Given the description of an element on the screen output the (x, y) to click on. 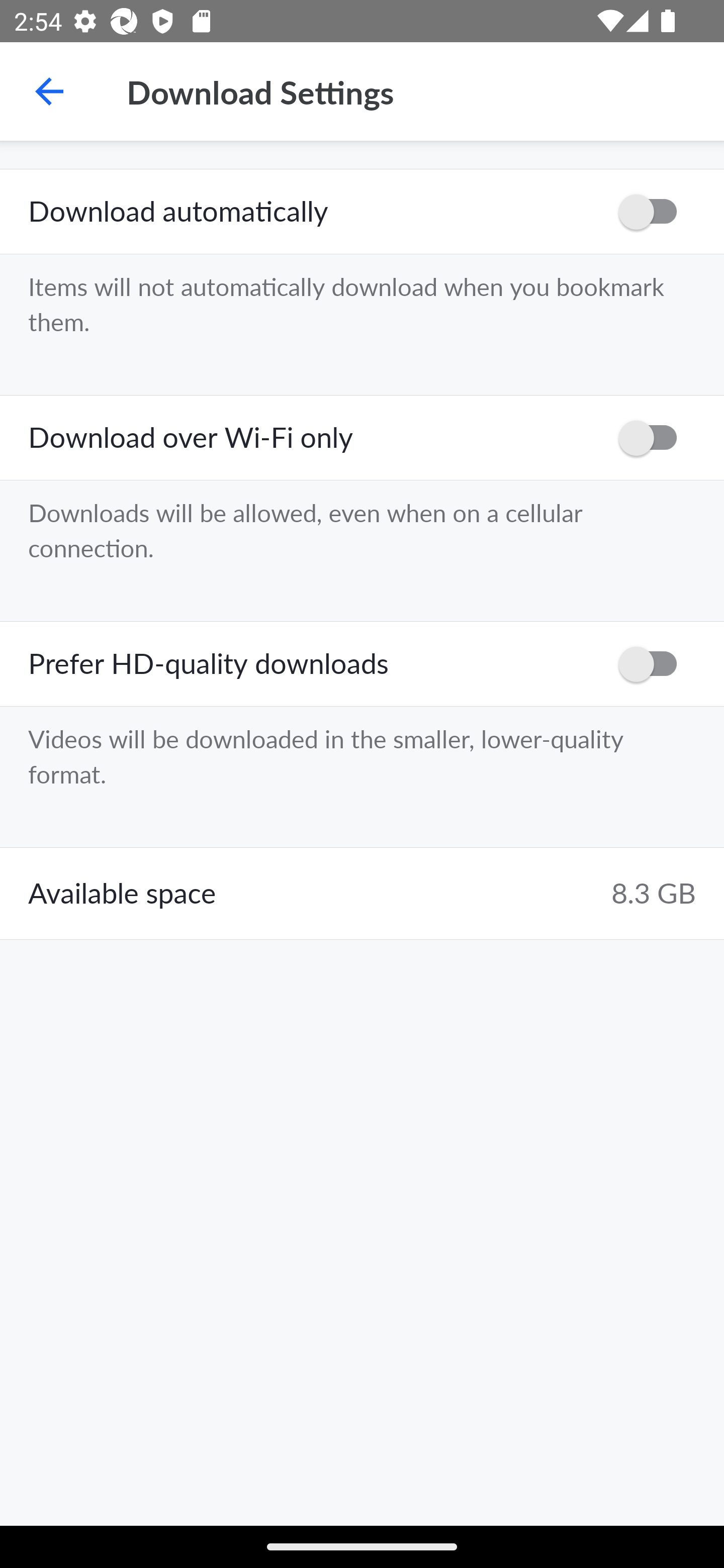
Navigate up (49, 91)
OFF (653, 211)
OFF (653, 437)
OFF (653, 663)
